Given the description of an element on the screen output the (x, y) to click on. 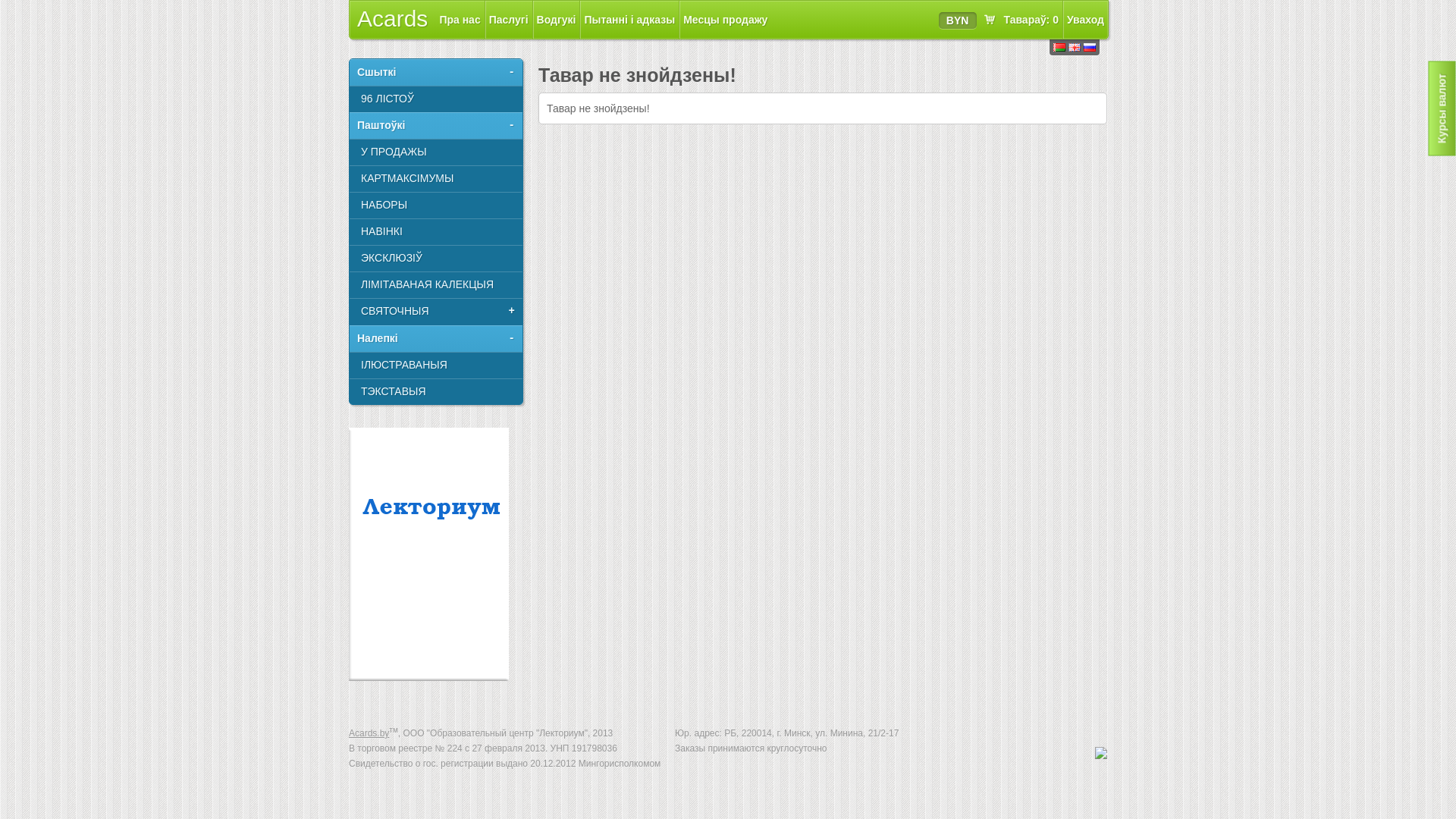
Acards.by Element type: text (368, 733)
Acards Element type: text (392, 18)
BYN Element type: text (957, 20)
English Element type: hover (1074, 47)
